Given the description of an element on the screen output the (x, y) to click on. 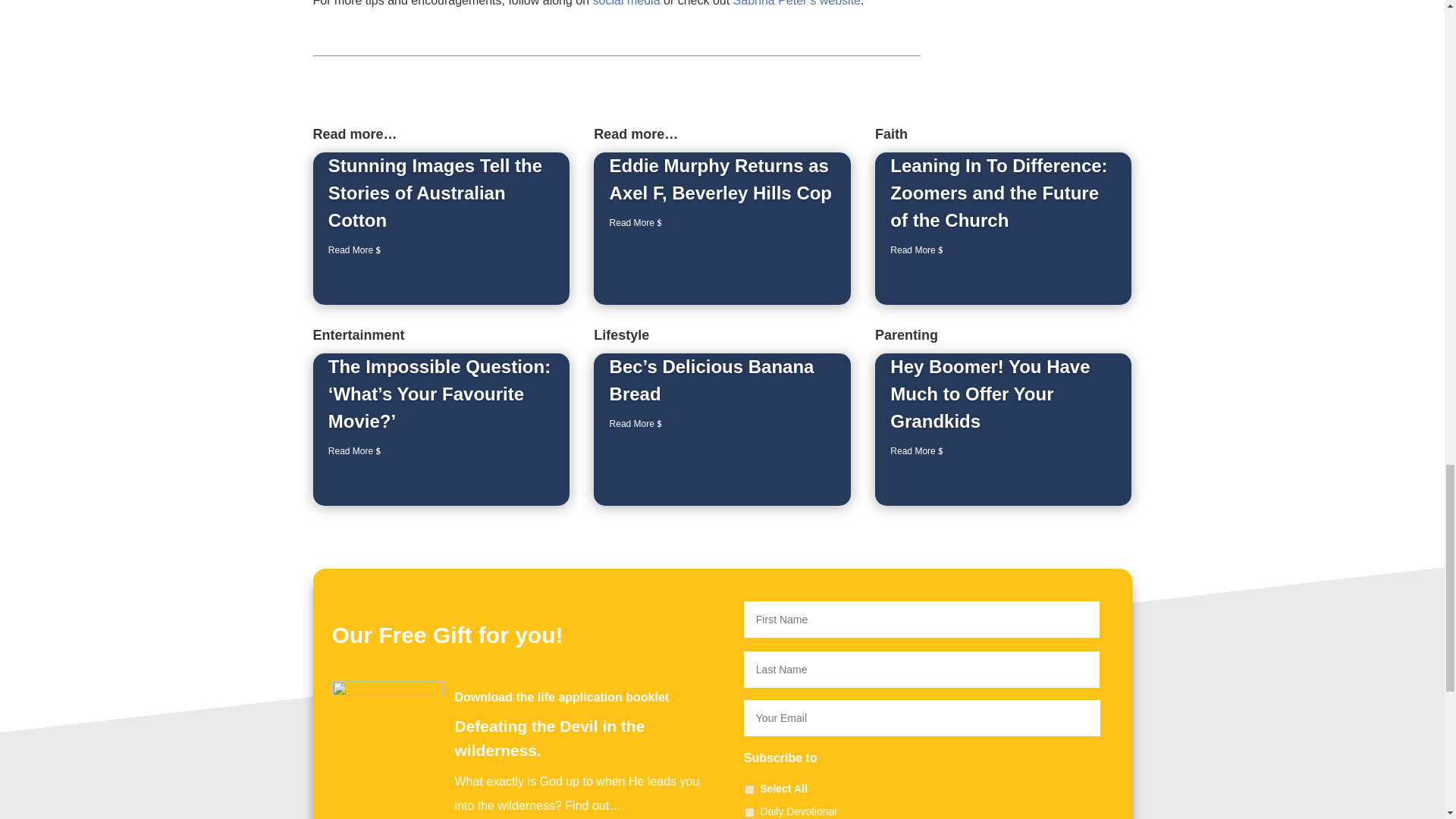
Daily Devotional (749, 812)
on (749, 789)
